Given the description of an element on the screen output the (x, y) to click on. 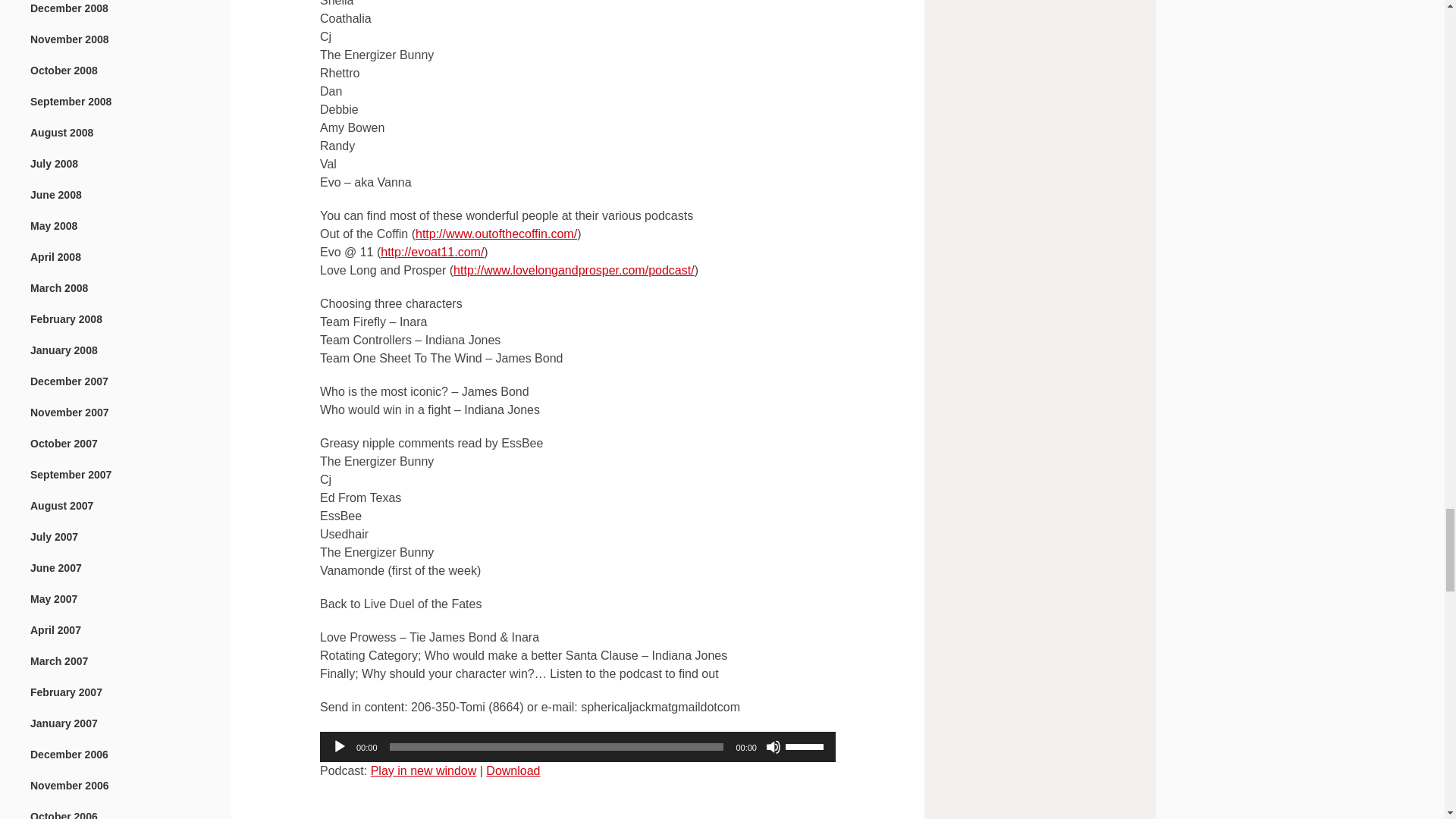
Mute (772, 746)
Play (339, 746)
Download (513, 770)
Play in new window (424, 770)
